Given the description of an element on the screen output the (x, y) to click on. 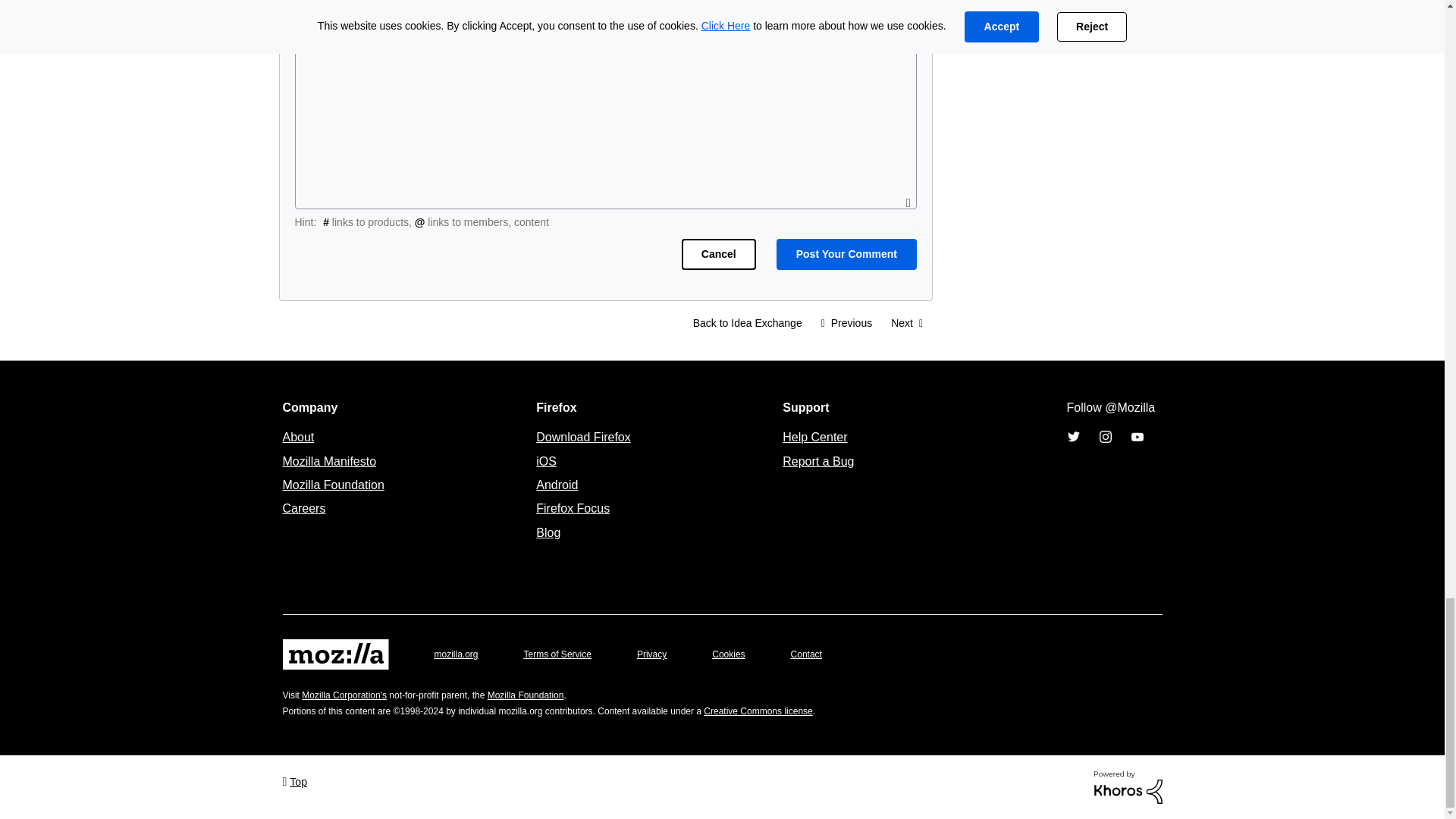
Post Your Comment (846, 254)
Cancel (718, 254)
Top (293, 780)
Top (293, 780)
